Given the description of an element on the screen output the (x, y) to click on. 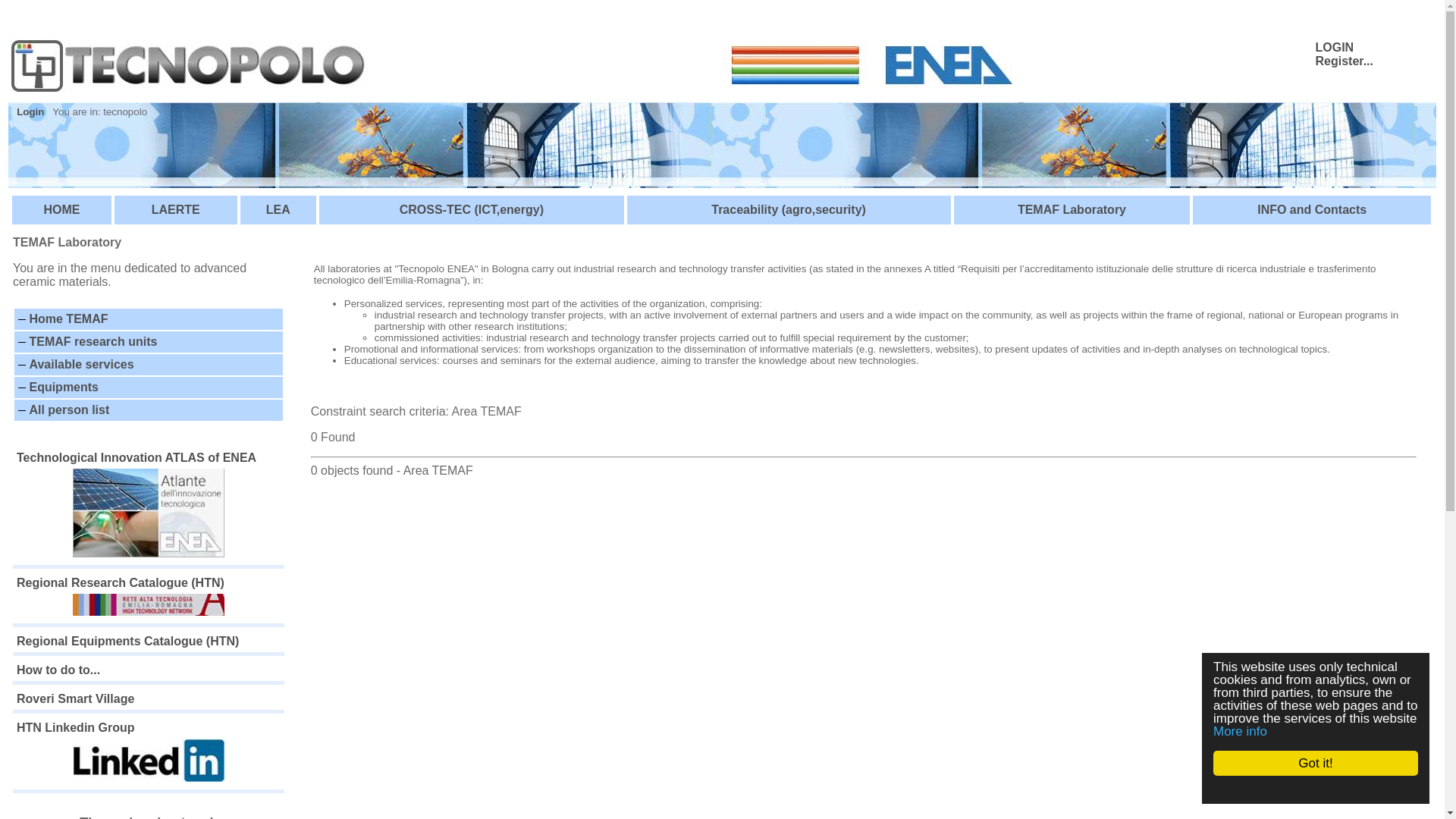
Go to Login (29, 111)
Available services (81, 364)
TEMAF Laboratory (1071, 209)
LOGIN (1334, 47)
Register... (1343, 60)
Cookie Consent plugin for the EU cookie law (1327, 789)
Skip to Main Content (62, 11)
INFO and Contacts (1312, 209)
Register in order to priviliged access and receive news (1343, 60)
HOME (61, 209)
HTN Linkedin Group (148, 753)
LAERTE (175, 209)
Login as a member (1334, 47)
Roveri Smart Village (74, 698)
